Given the description of an element on the screen output the (x, y) to click on. 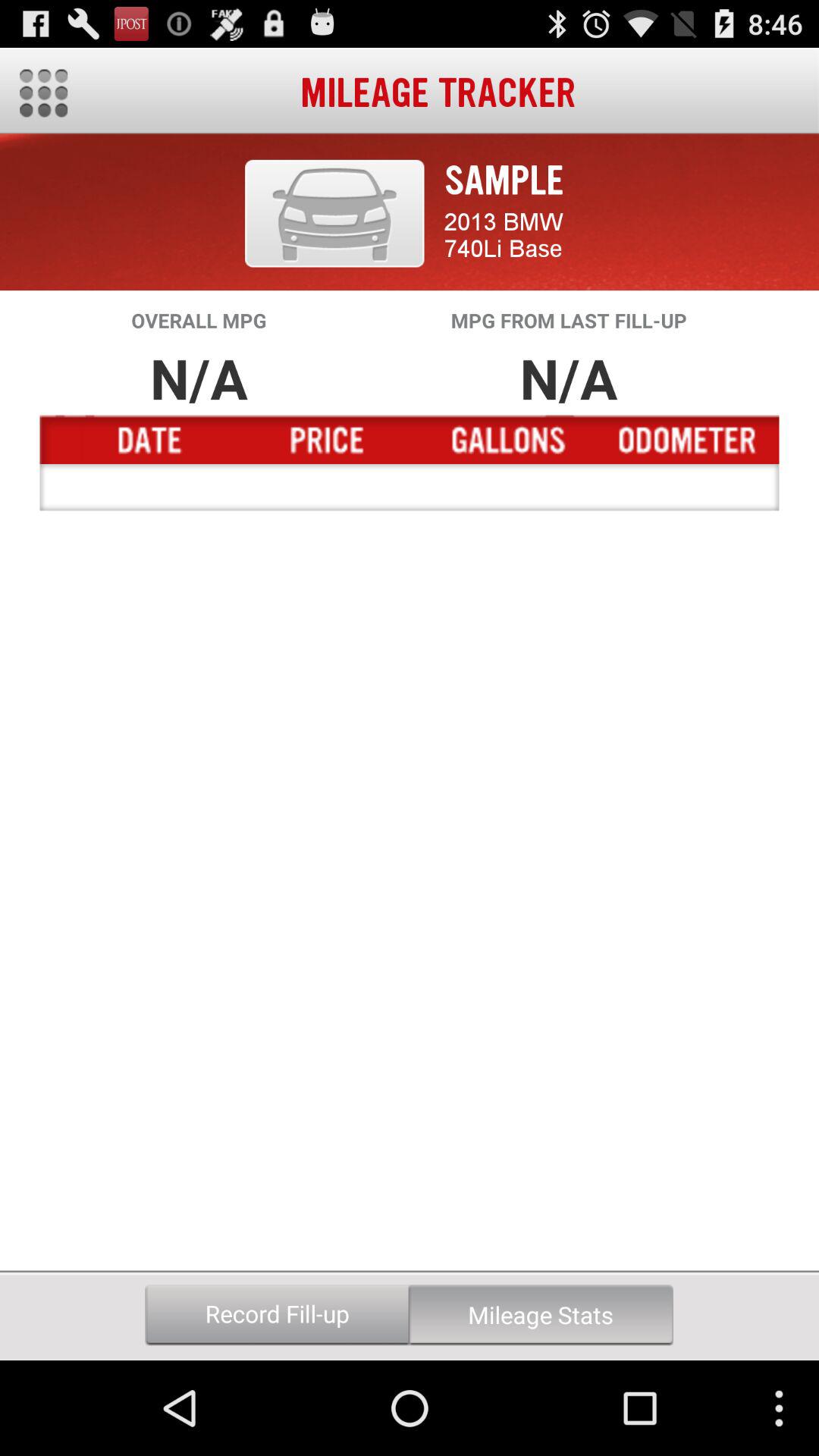
select the button to the right of record fill-up button (540, 1314)
